Given the description of an element on the screen output the (x, y) to click on. 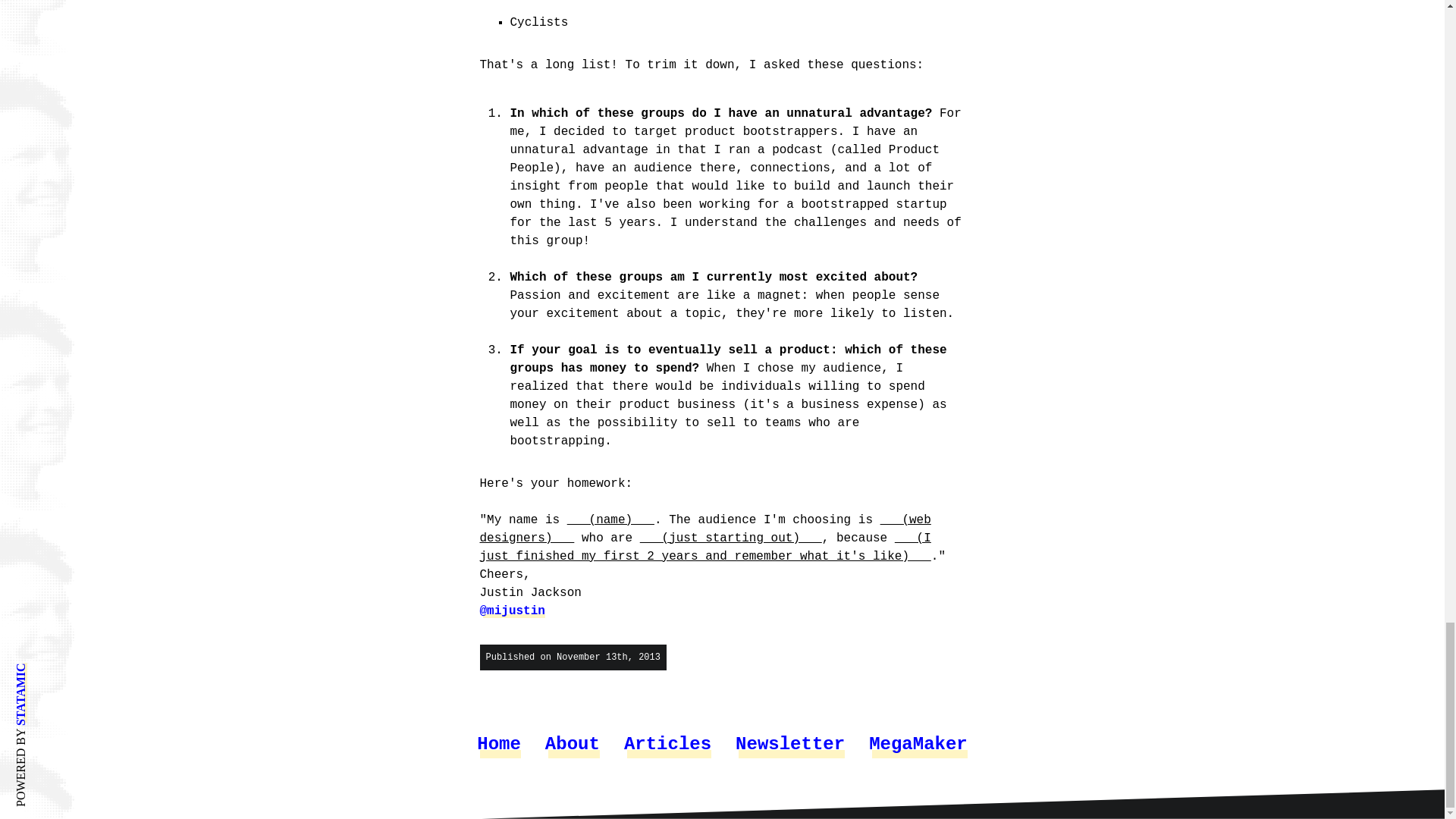
Articles (667, 744)
Newsletter (789, 744)
STATAMIC (45, 668)
About (571, 744)
Home (499, 744)
MegaMaker (918, 744)
